Given the description of an element on the screen output the (x, y) to click on. 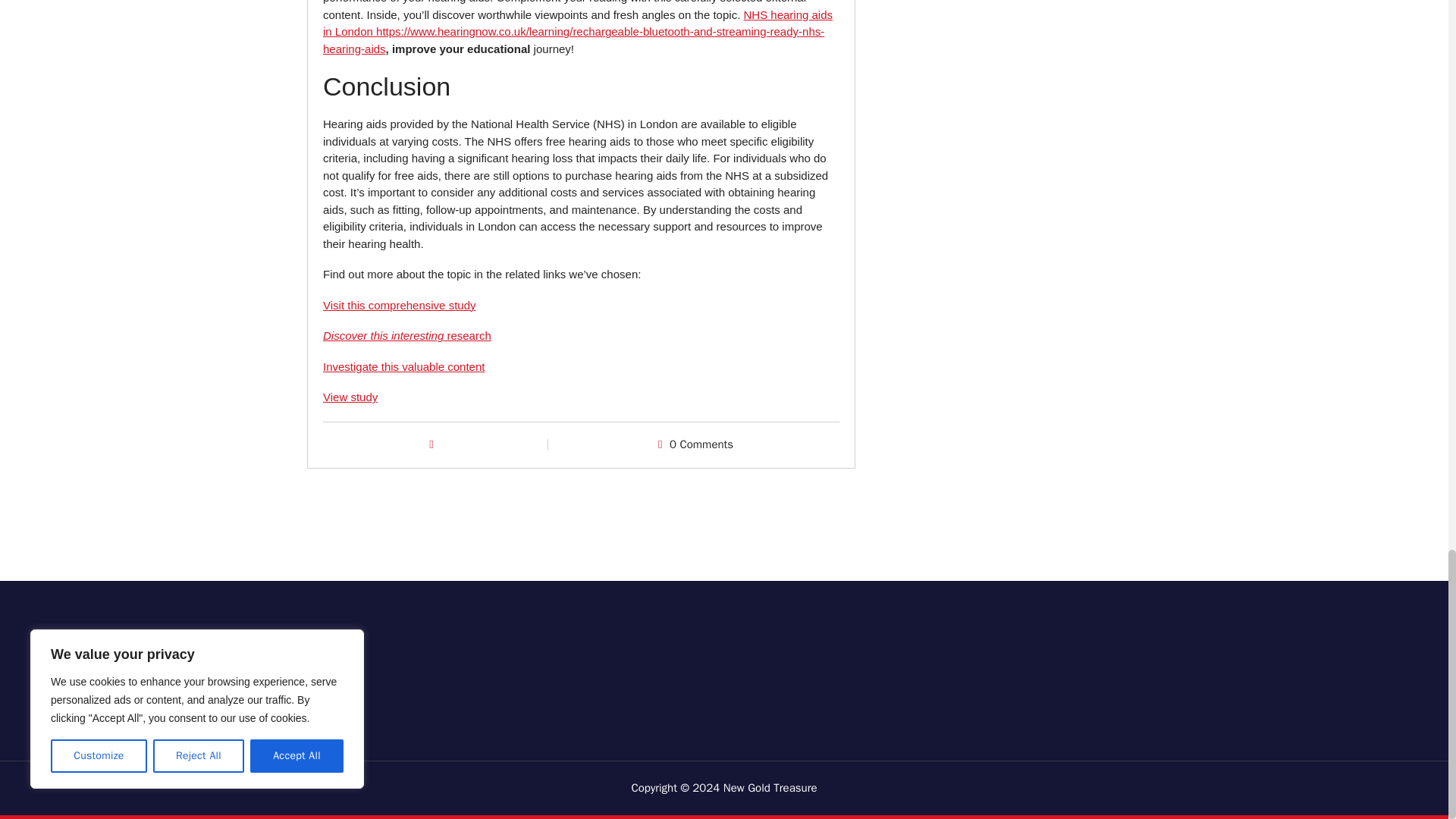
Discover this interesting research (407, 335)
Visit this comprehensive study (399, 305)
Investigate this valuable content (403, 366)
